Given the description of an element on the screen output the (x, y) to click on. 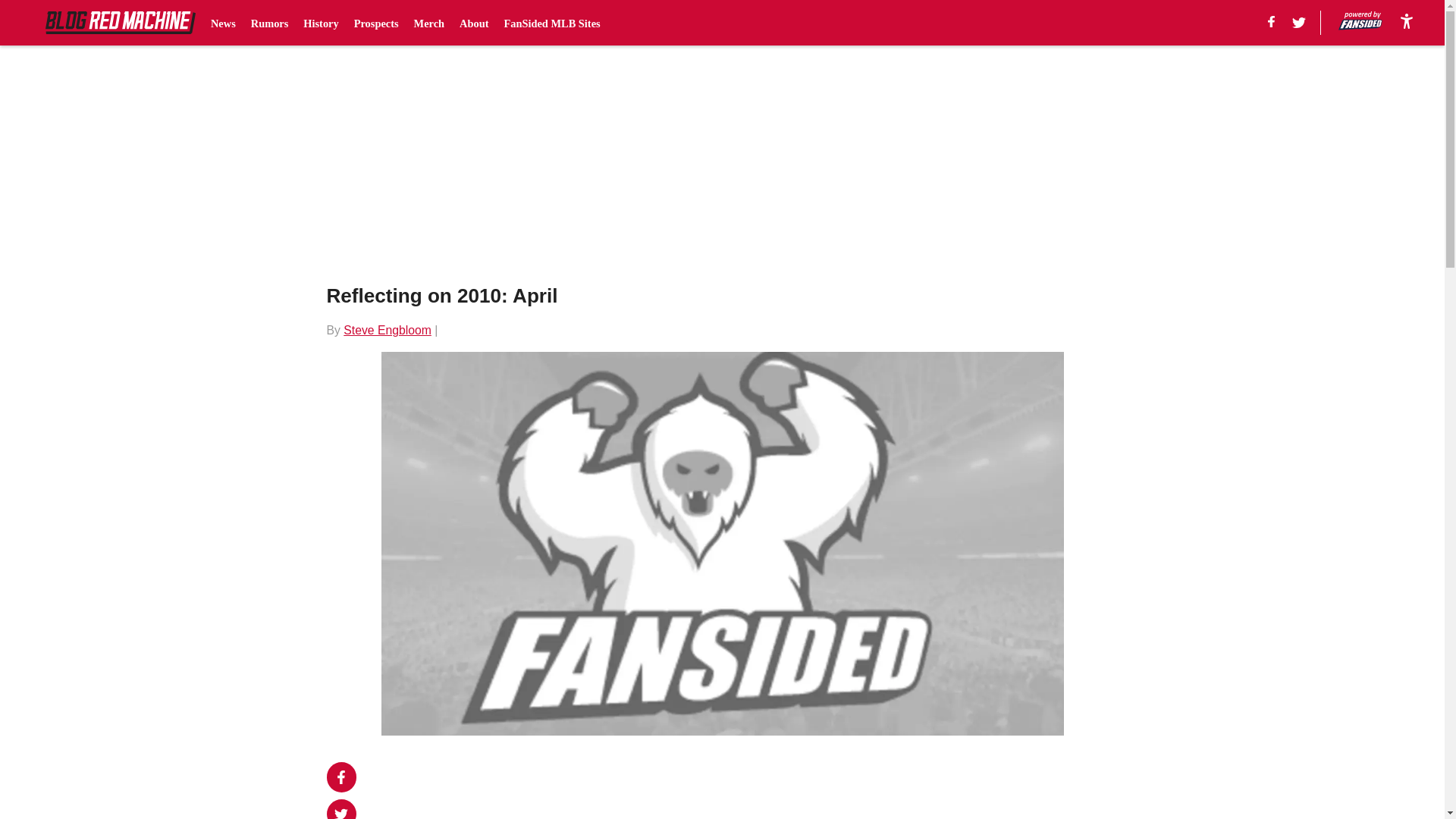
Rumors (269, 23)
Merch (429, 23)
About (473, 23)
News (223, 23)
Prospects (375, 23)
History (319, 23)
Steve Engbloom (386, 329)
FanSided MLB Sites (551, 23)
